Given the description of an element on the screen output the (x, y) to click on. 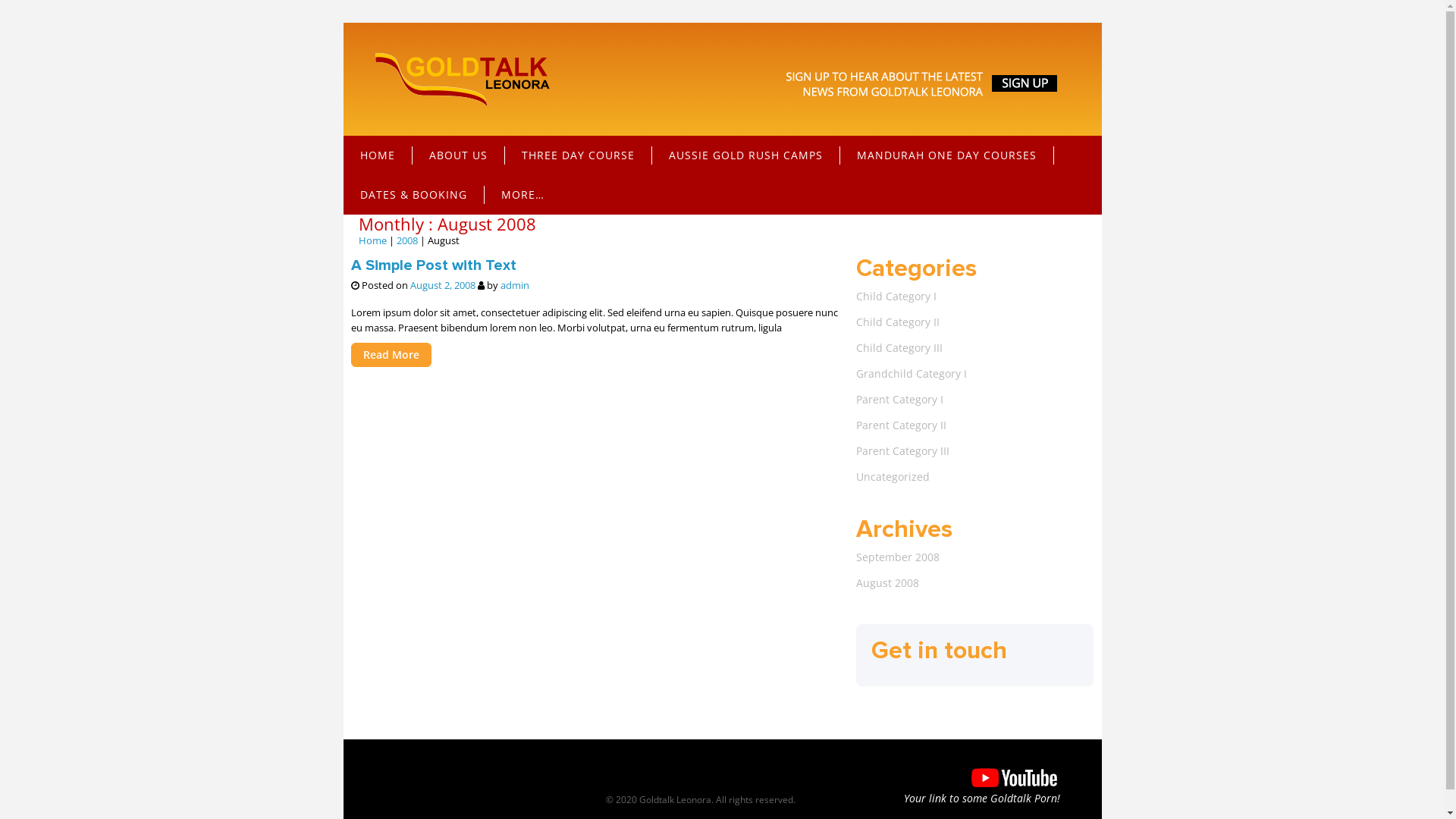
HOME Element type: text (376, 155)
Read More Element type: text (390, 354)
August 2, 2008 Element type: text (441, 284)
DATES & BOOKING Element type: text (412, 194)
ABOUT US Element type: text (458, 155)
admin Element type: text (514, 284)
2008 Element type: text (406, 240)
Your link to some Goldtalk Porn! Element type: text (974, 781)
MANDURAH ONE DAY COURSES Element type: text (947, 155)
September 2008 Element type: text (974, 562)
August 2008 Element type: text (974, 588)
Goldtalk Leonora Element type: hover (464, 79)
Child Category III Element type: text (974, 353)
Grandchild Category I Element type: text (974, 379)
Parent Category III Element type: text (974, 456)
Uncategorized Element type: text (974, 482)
Child Category II Element type: text (974, 327)
Parent Category II Element type: text (974, 430)
Child Category I Element type: text (974, 301)
A Simple Post with Text Element type: text (432, 265)
Parent Category I Element type: text (974, 404)
Home Element type: text (371, 240)
THREE DAY COURSE Element type: text (578, 155)
AUSSIE GOLD RUSH CAMPS Element type: text (746, 155)
